Given the description of an element on the screen output the (x, y) to click on. 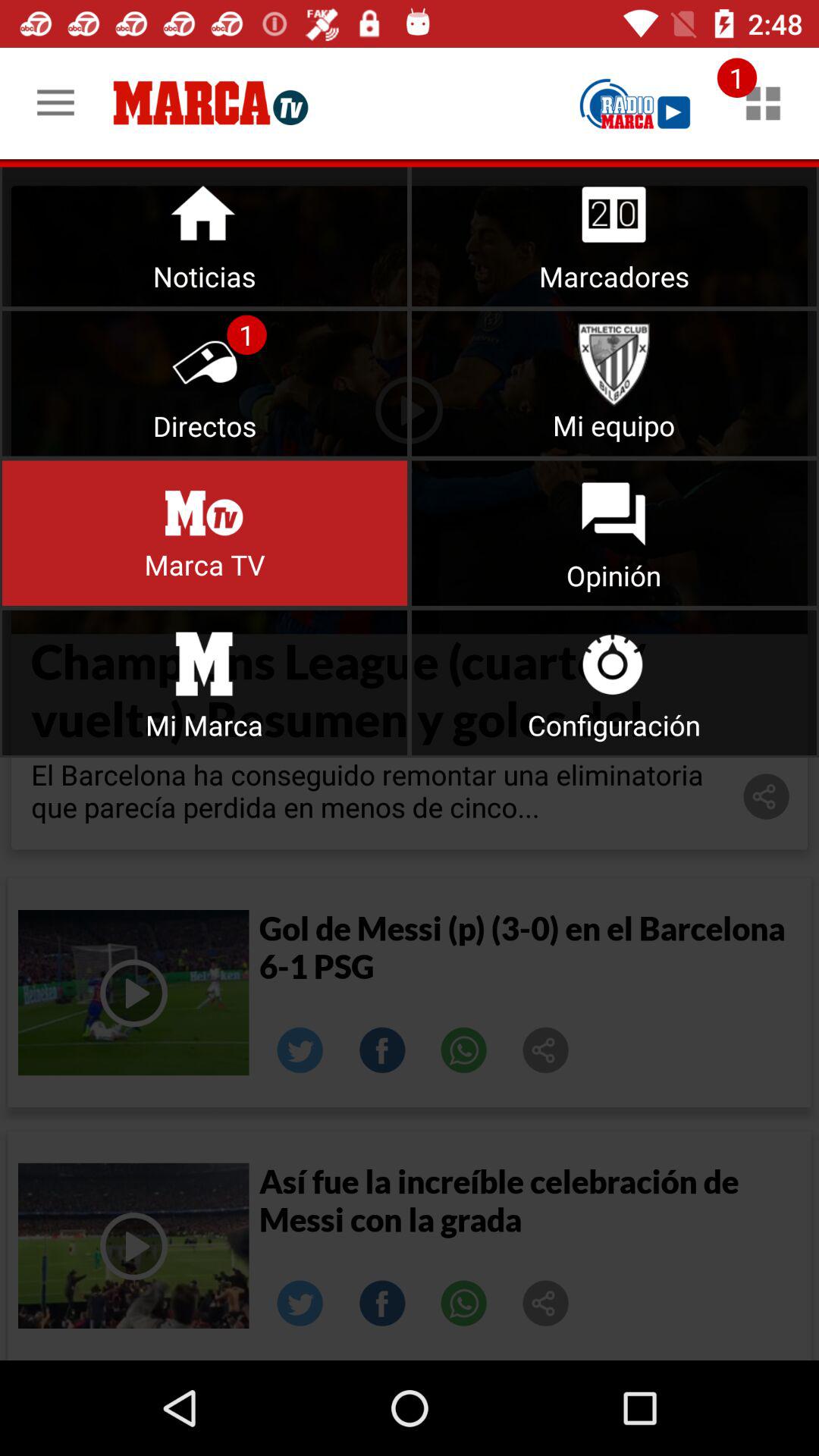
select mi marca option (204, 682)
